Given the description of an element on the screen output the (x, y) to click on. 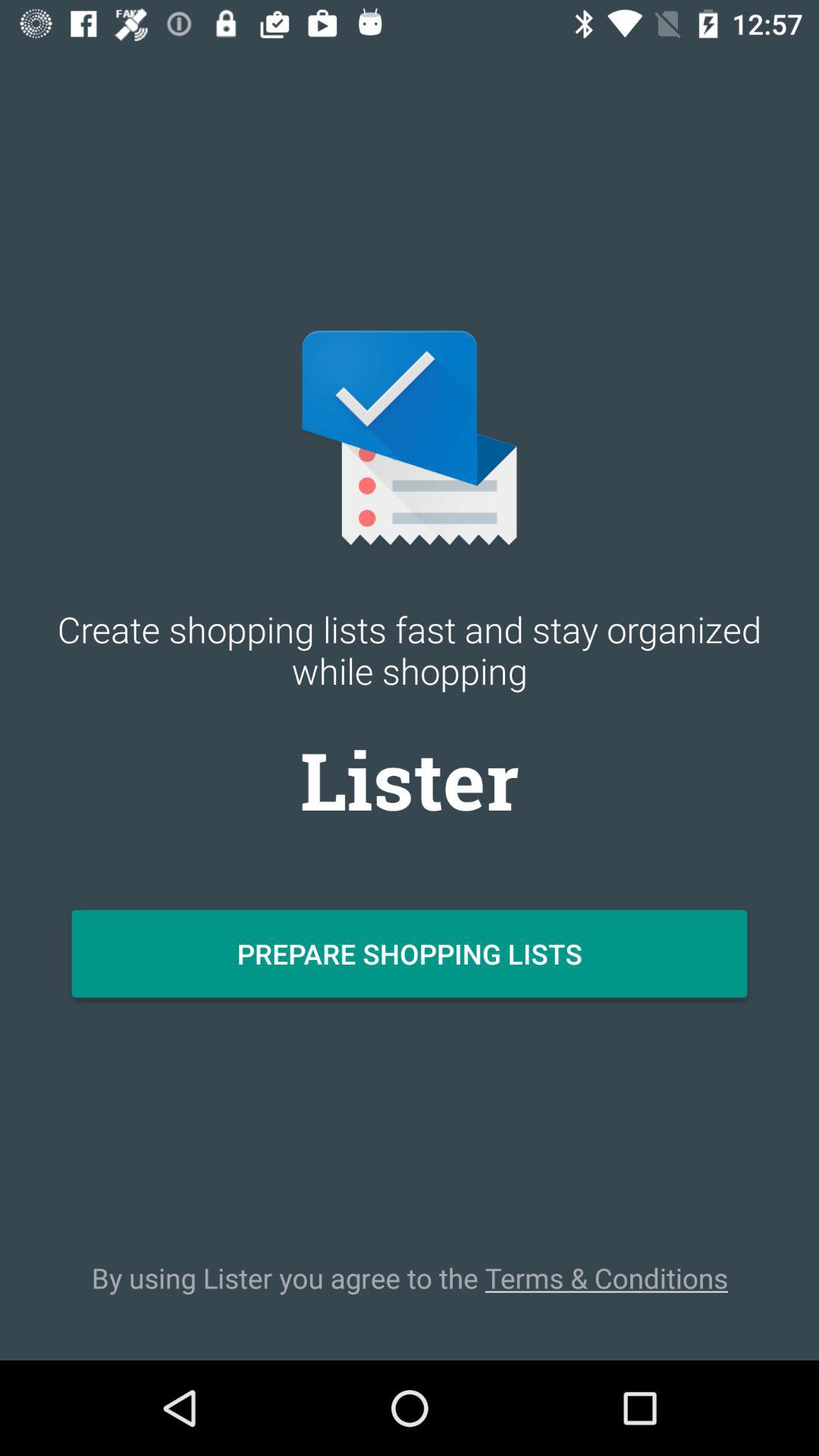
swipe until the by using lister item (409, 1277)
